Given the description of an element on the screen output the (x, y) to click on. 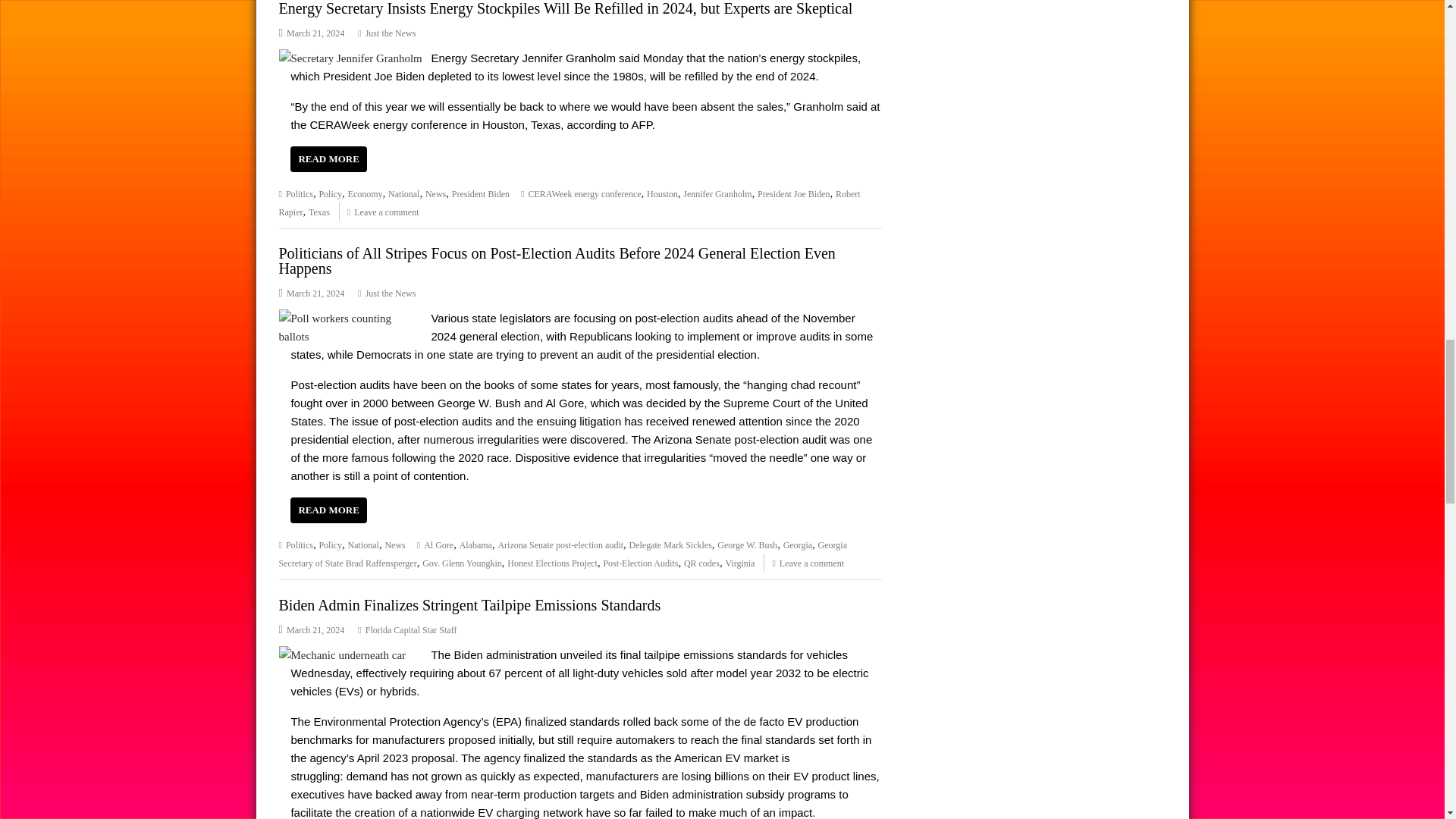
Biden Admin Finalizes Stringent Tailpipe Emissions Standards (342, 654)
